Given the description of an element on the screen output the (x, y) to click on. 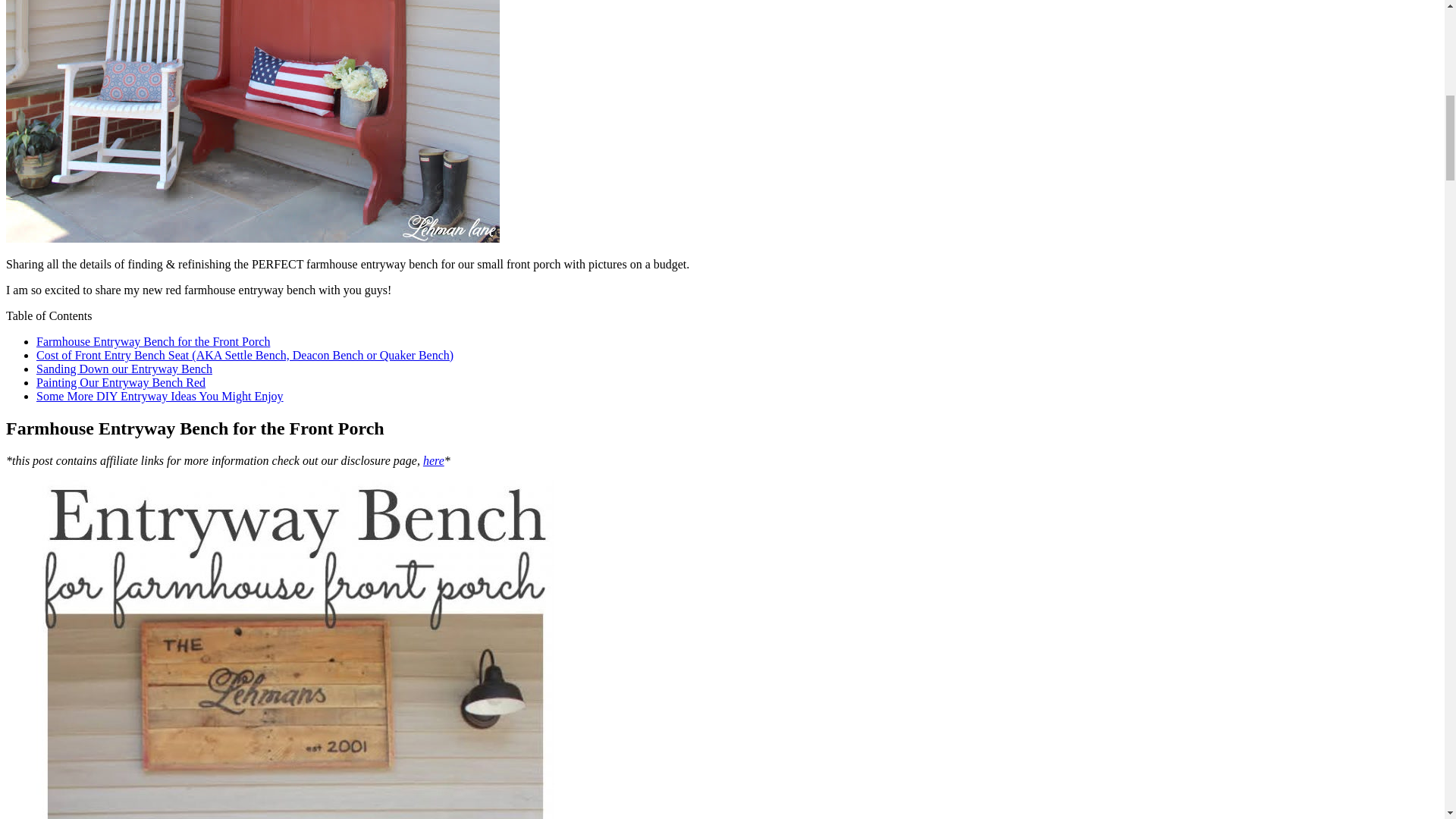
Some More DIY Entryway Ideas You Might Enjoy (159, 395)
Farmhouse Entryway Bench for the Front Porch (152, 341)
Sanding Down our Entryway Bench (124, 368)
Farmhouse Entryway Bench for the Front Porch (152, 341)
Painting Our Entryway Bench Red (120, 382)
Some More DIY Entryway Ideas You Might Enjoy (159, 395)
here (433, 460)
Painting Our Entryway Bench Red (120, 382)
Sanding Down our Entryway Bench (124, 368)
